Given the description of an element on the screen output the (x, y) to click on. 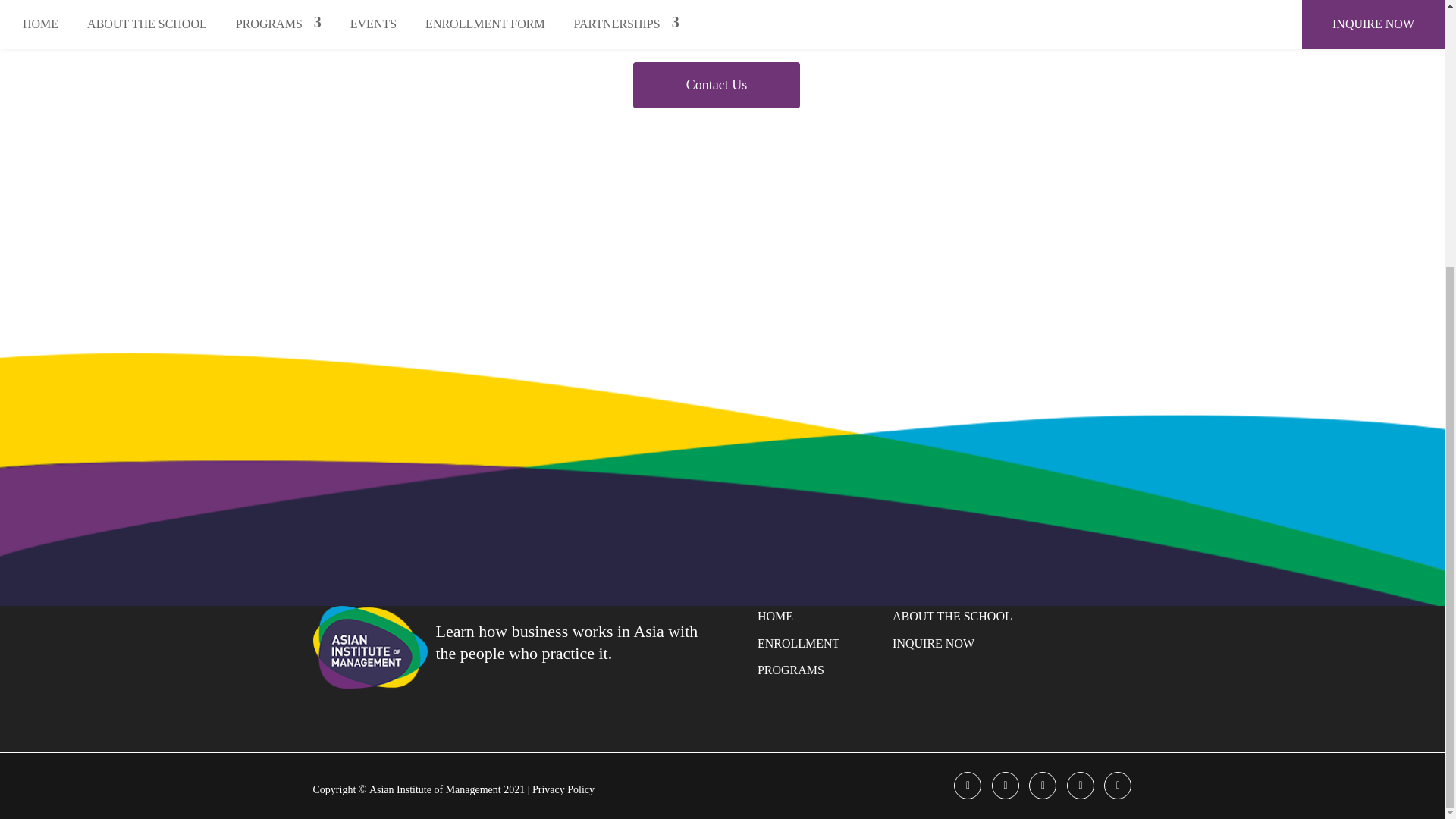
HOME (775, 615)
PROGRAMS (790, 669)
Asian Institute of Management (436, 789)
Linkedin (1117, 785)
ABOUT THE SCHOOL (951, 615)
Contact Us (716, 85)
Youtube (1080, 785)
Instagram (1043, 785)
Facebook (967, 785)
Twitter (1005, 785)
